Given the description of an element on the screen output the (x, y) to click on. 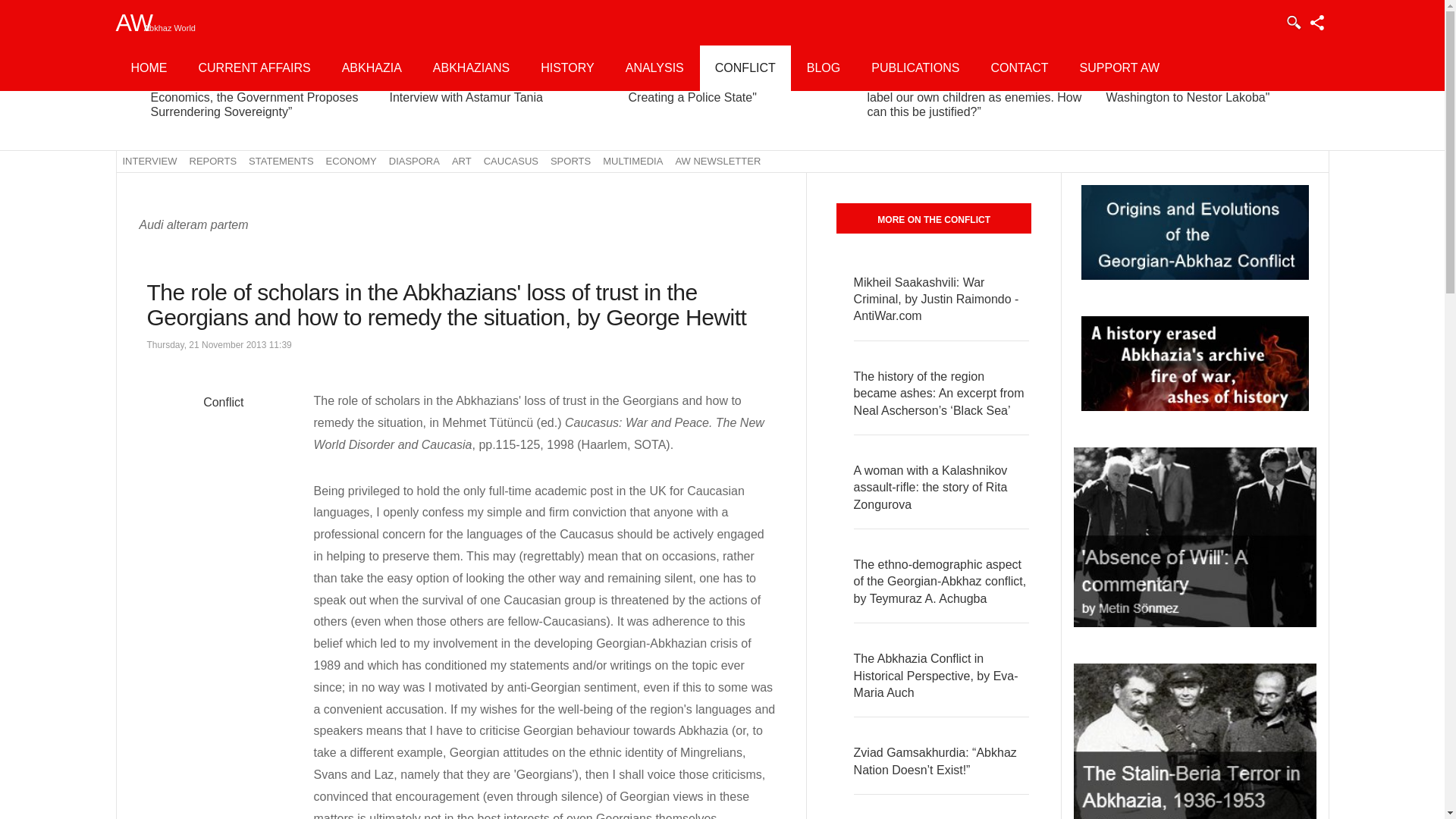
STATEMENTS (280, 160)
AW Abkhaz World (147, 22)
PUBLICATIONS (915, 67)
CONFLICT (745, 67)
HISTORY (567, 67)
ABKHAZIA (371, 67)
HOME (148, 67)
ABKHAZIANS (470, 67)
SUPPORT AW (1119, 67)
REPORTS (213, 160)
Stanislav Lakoba: "From George Washington to Nestor Lakoba" (1193, 90)
